Given the description of an element on the screen output the (x, y) to click on. 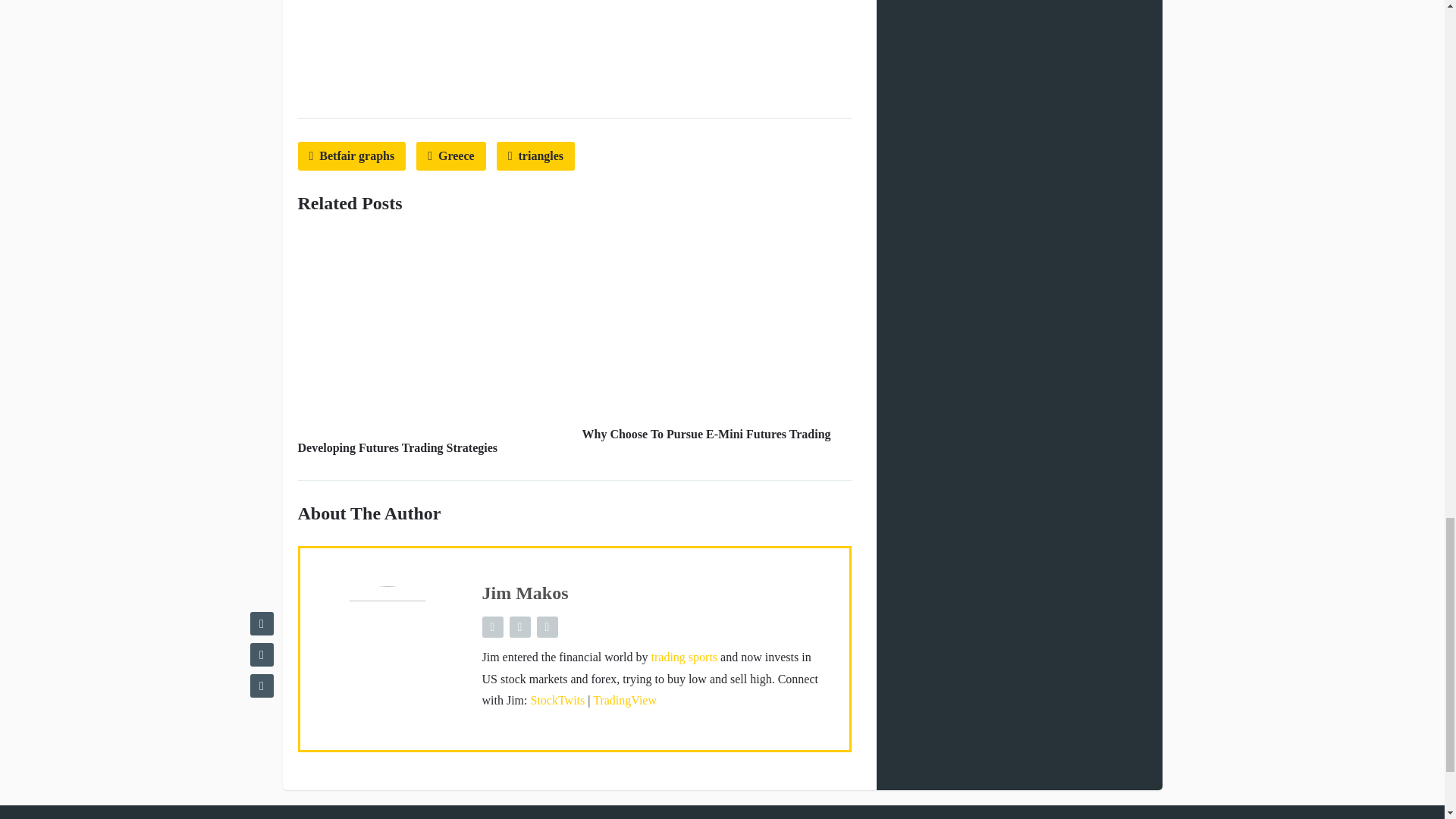
Greece (451, 156)
Betfair graphs (351, 156)
Why Choose To Pursue E-Mini Futures Trading (706, 433)
Jim Makos (525, 592)
triangles (535, 156)
Developing Futures Trading Strategies (397, 447)
Why Choose To Pursue E-Mini Futures Trading (706, 433)
Developing Futures Trading Strategies (397, 447)
